Given the description of an element on the screen output the (x, y) to click on. 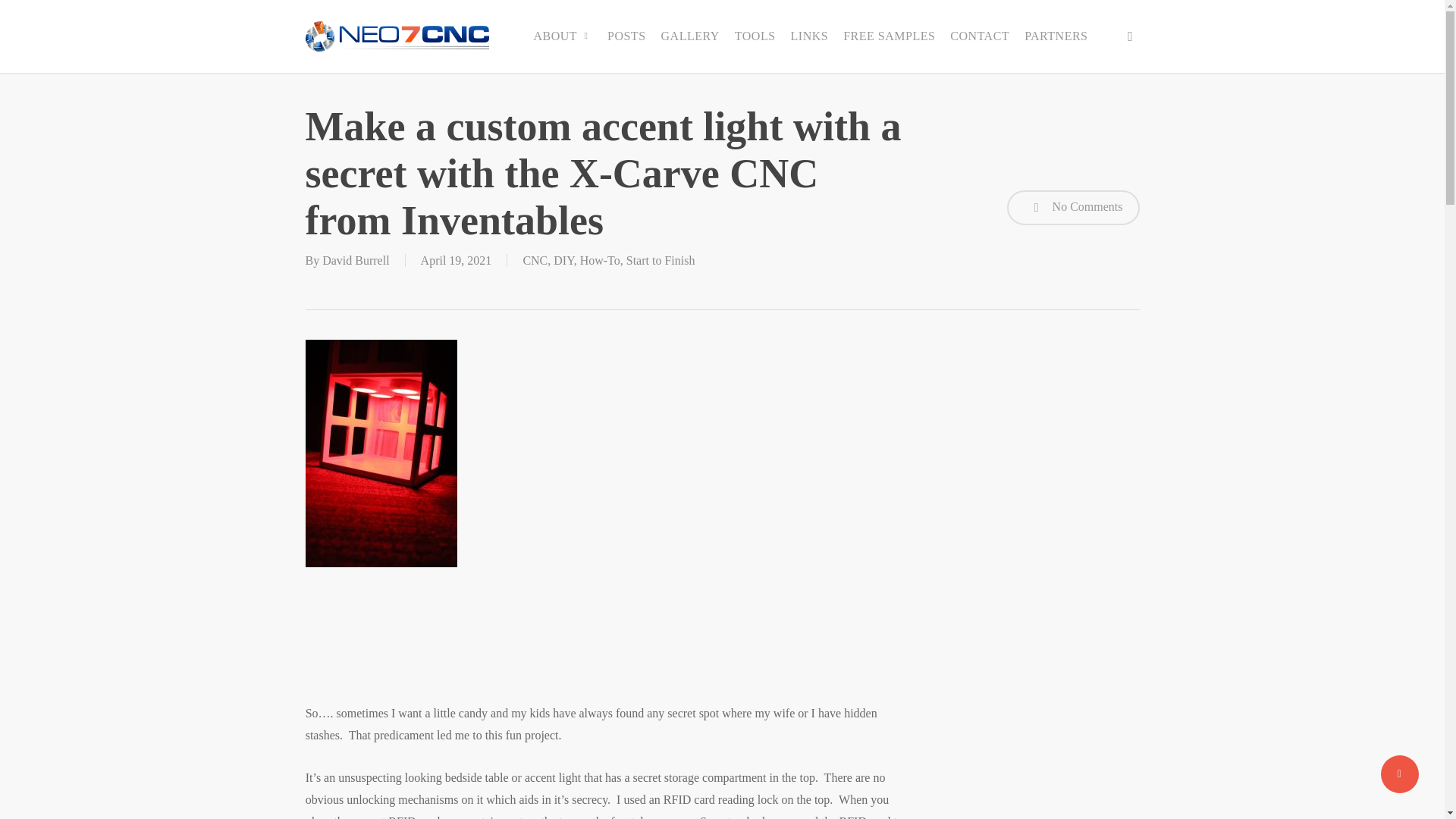
No Comments (1073, 207)
POSTS (626, 36)
FREE SAMPLES (888, 36)
Advertisement (604, 653)
CNC (534, 259)
Posts by David Burrell (354, 259)
Start to Finish (660, 259)
search (1129, 36)
GALLERY (689, 36)
DIY (563, 259)
